Given the description of an element on the screen output the (x, y) to click on. 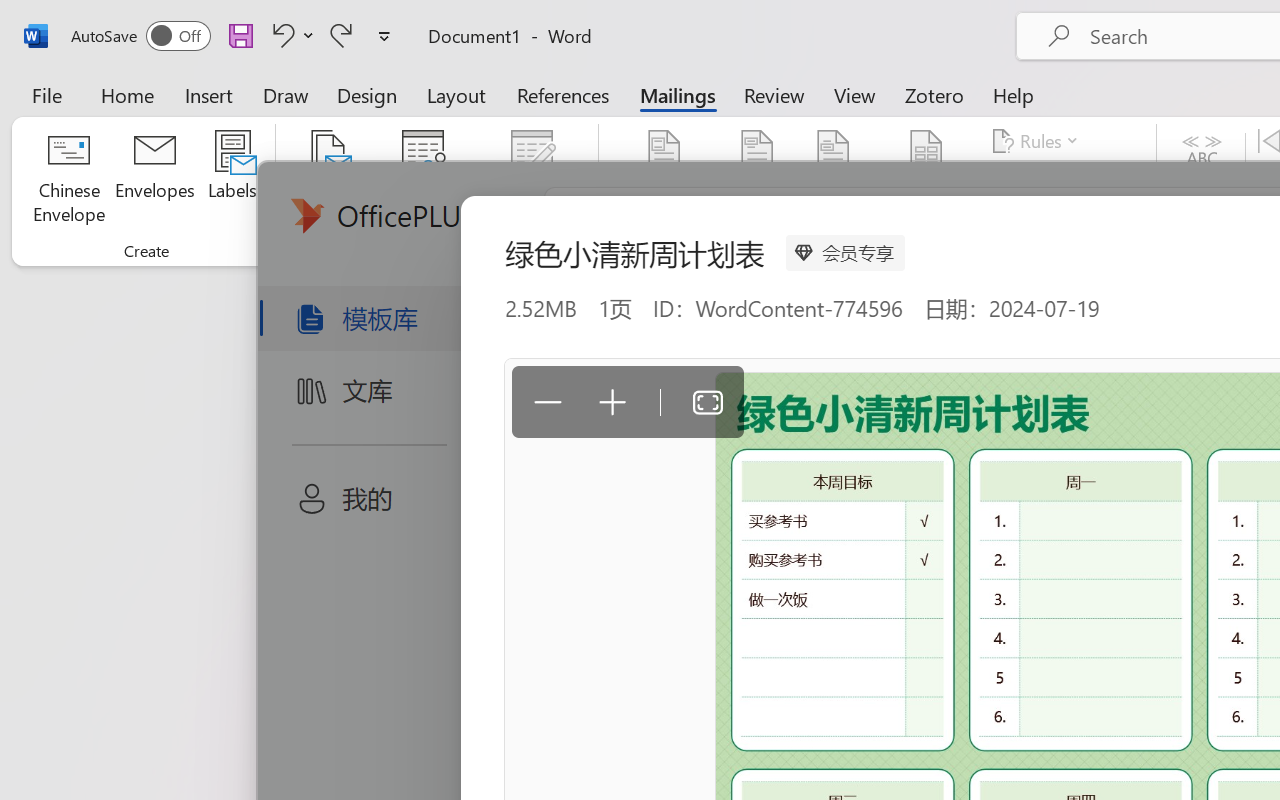
Select Recipients (423, 179)
Highlight Merge Fields (664, 179)
Chinese Envelope... (68, 179)
Undo Apply Quick Style Set (280, 35)
Insert Merge Field (927, 179)
Start Mail Merge (328, 179)
Edit Recipient List... (532, 179)
